Given the description of an element on the screen output the (x, y) to click on. 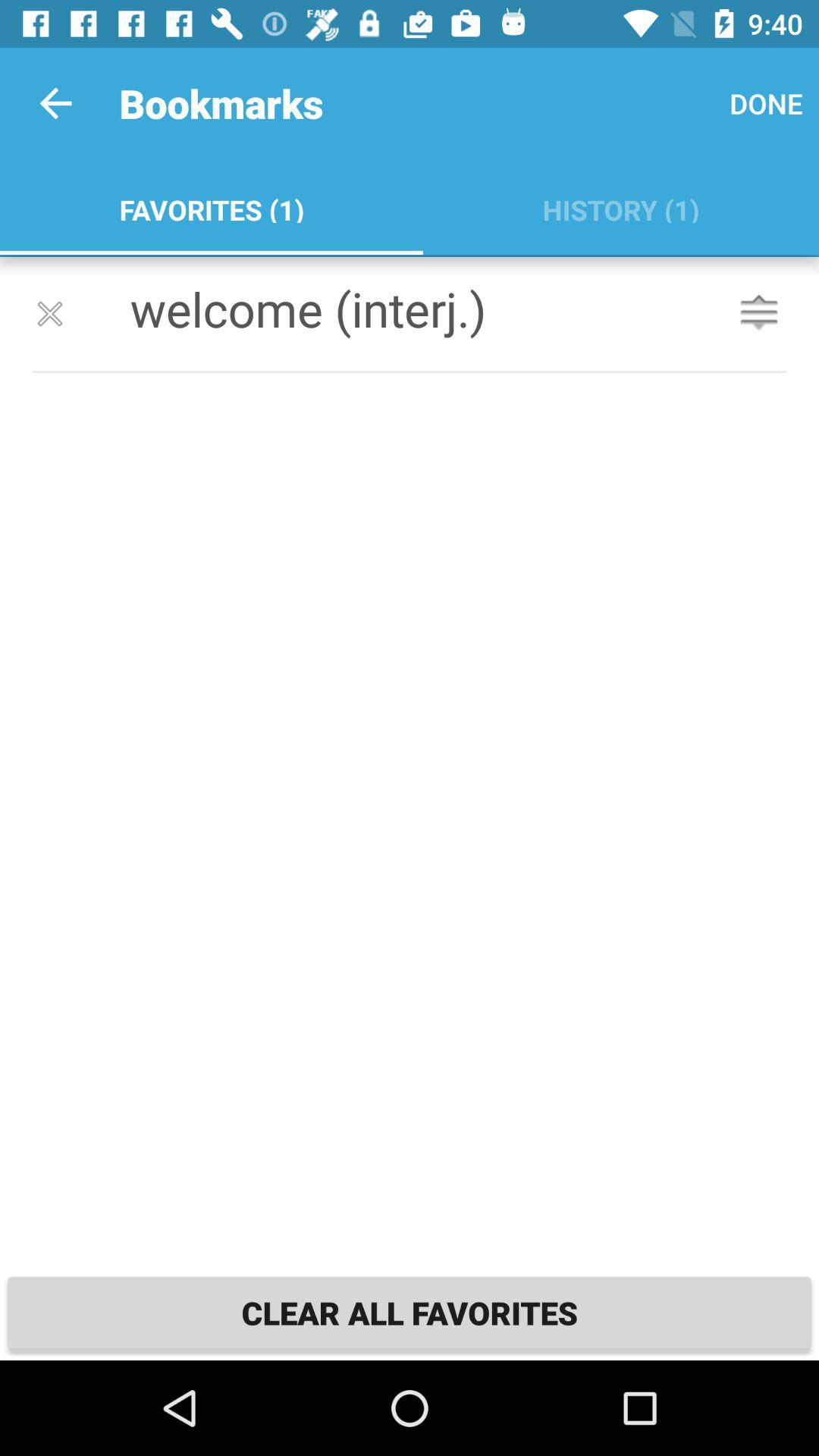
tap the done item (766, 103)
